Given the description of an element on the screen output the (x, y) to click on. 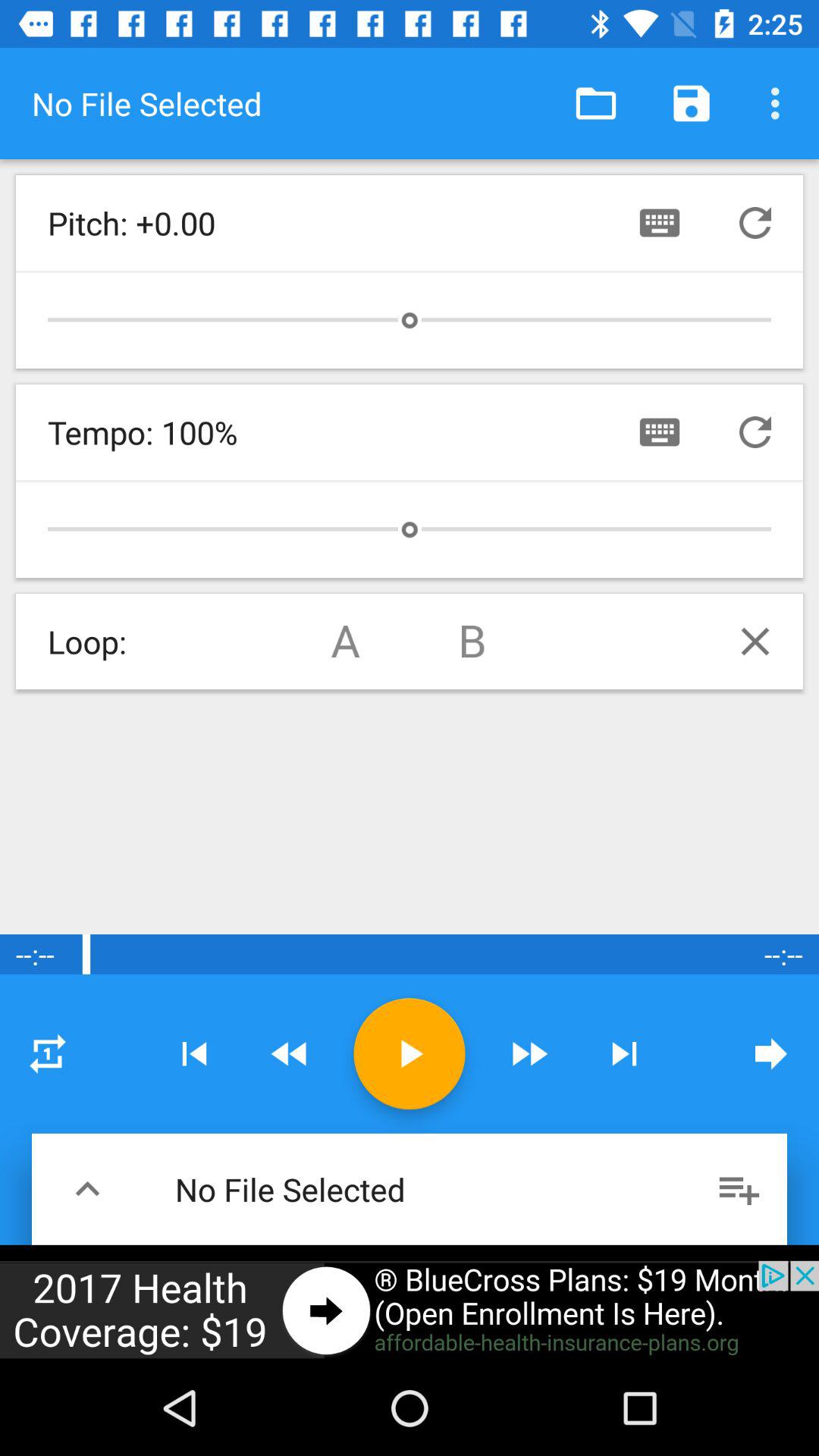
fast forward audio (528, 1053)
